Given the description of an element on the screen output the (x, y) to click on. 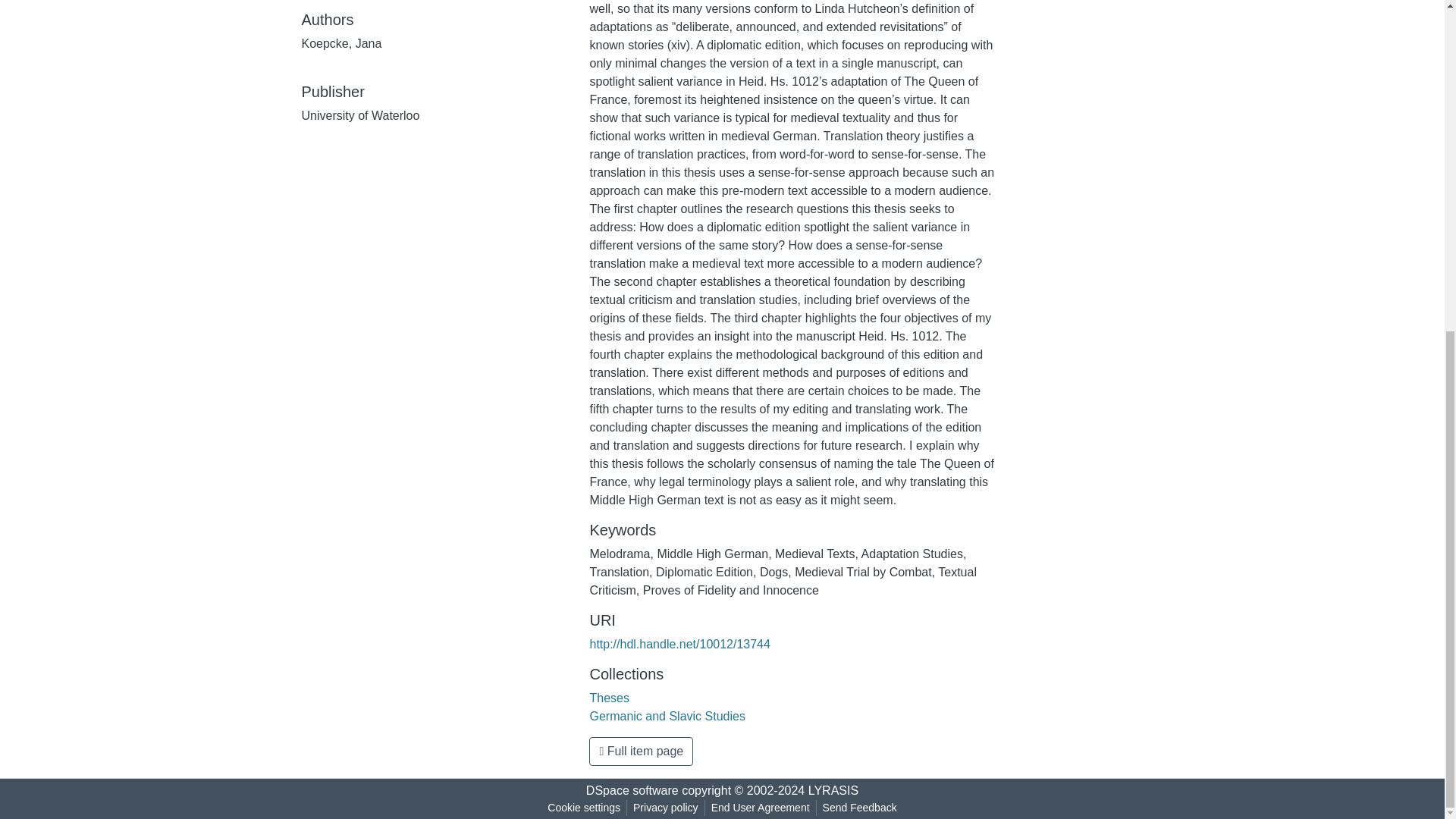
Full item page (641, 751)
Cookie settings (583, 807)
End User Agreement (759, 807)
Privacy policy (665, 807)
Theses (608, 697)
Germanic and Slavic Studies (666, 716)
LYRASIS (833, 789)
Send Feedback (859, 807)
DSpace software (632, 789)
